Given the description of an element on the screen output the (x, y) to click on. 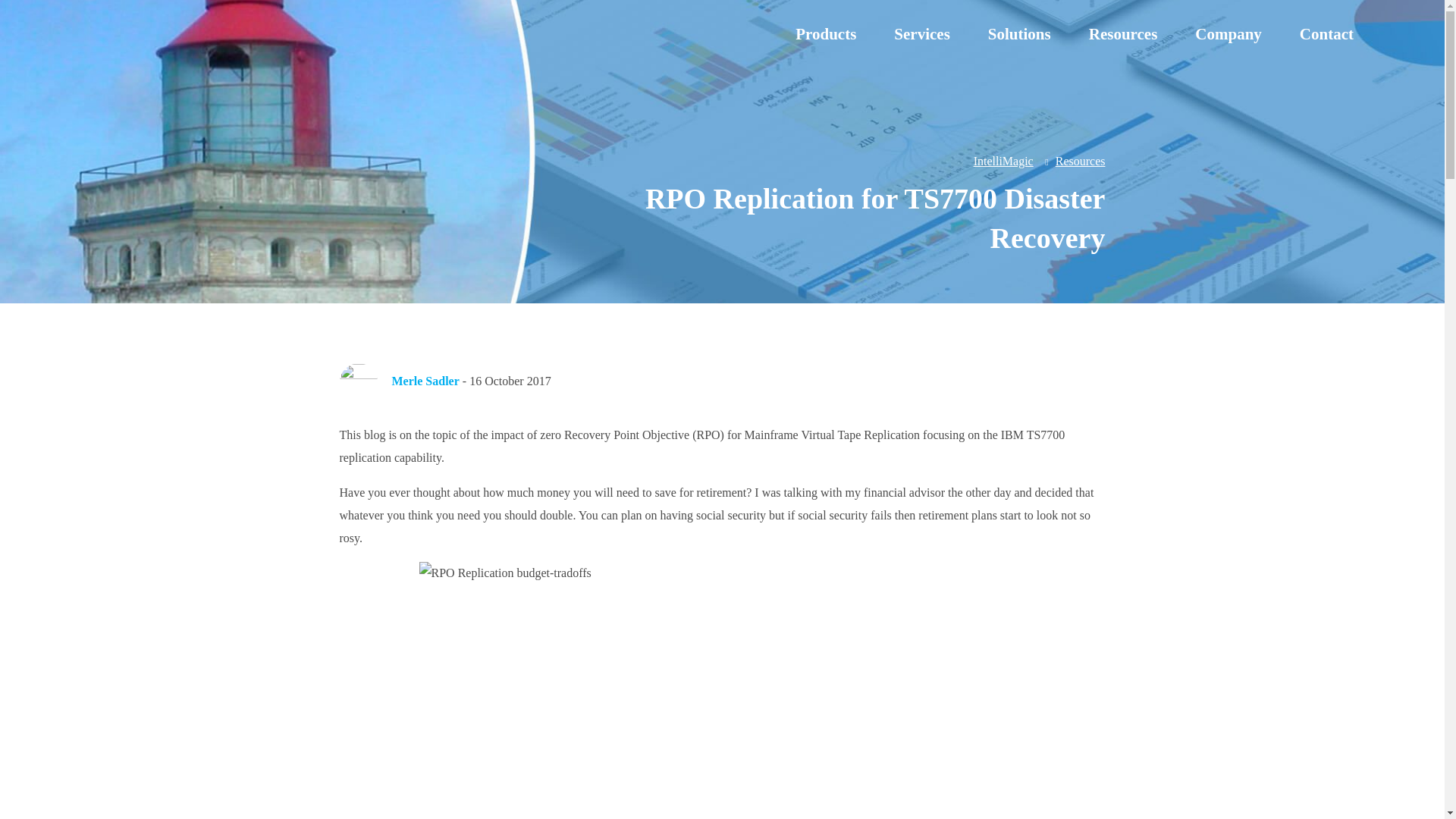
Services (921, 34)
Products (825, 34)
Solutions (1019, 34)
Resources (1123, 34)
